Given the description of an element on the screen output the (x, y) to click on. 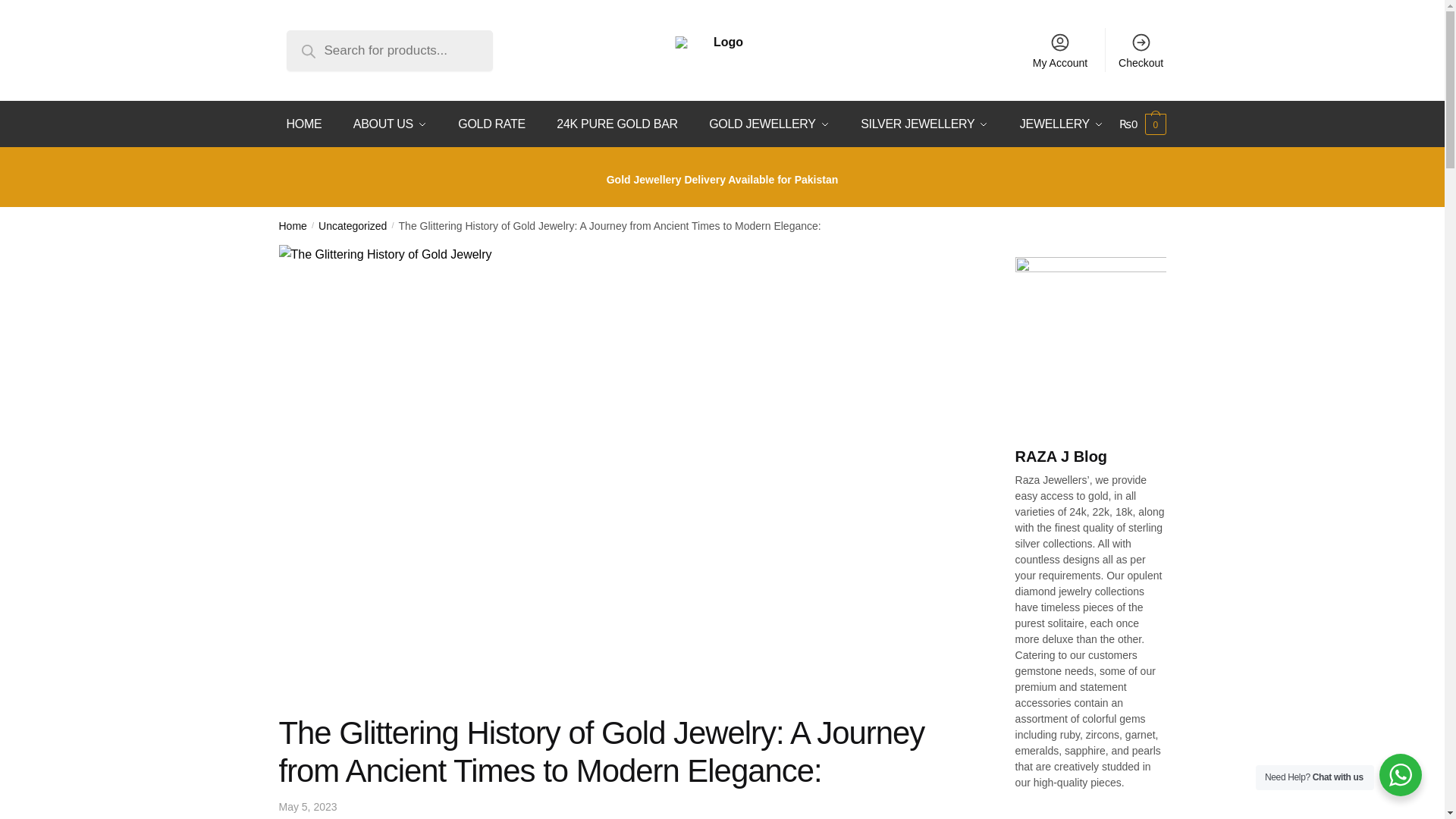
24K PURE GOLD BAR (616, 124)
HOME (307, 124)
GOLD RATE (491, 124)
SILVER JEWELLERY (924, 124)
GOLD JEWELLERY (768, 124)
View your shopping cart (1142, 124)
Checkout (1141, 49)
My Account (1060, 49)
ABOUT US (389, 124)
